Given the description of an element on the screen output the (x, y) to click on. 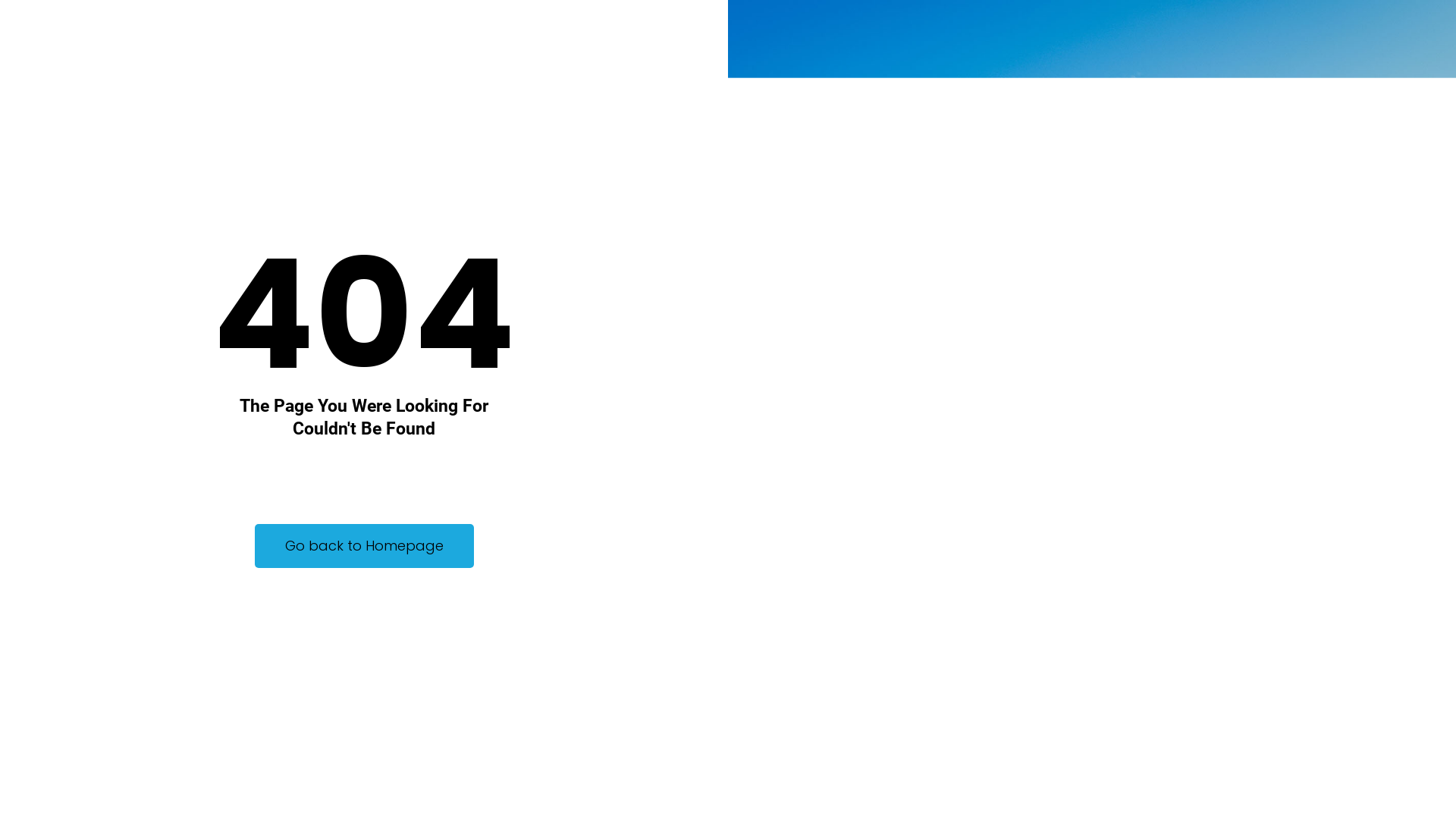
Go back to Homepage Element type: text (363, 545)
